Given the description of an element on the screen output the (x, y) to click on. 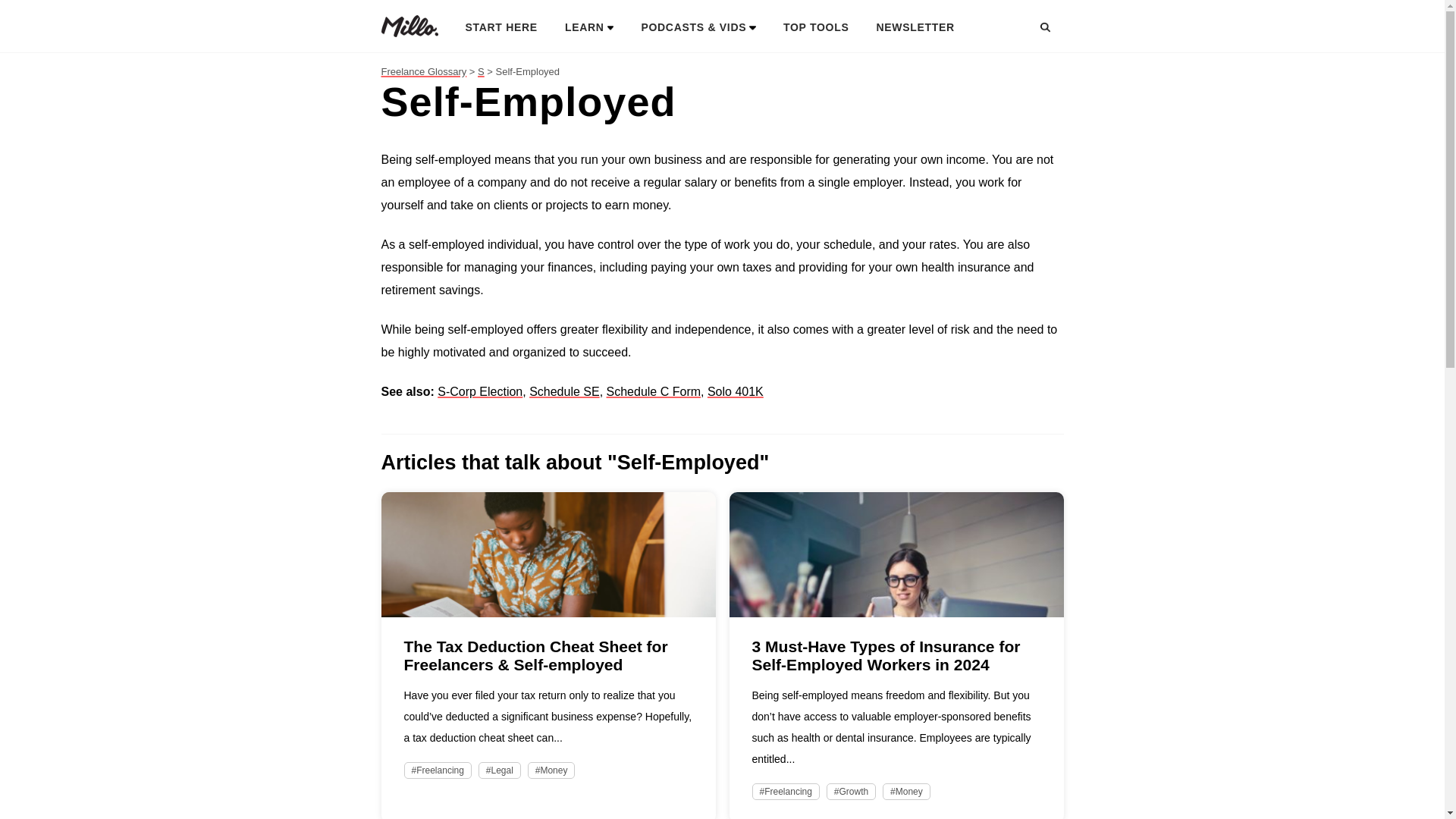
TOP TOOLS (815, 26)
Legal (500, 770)
Millo (409, 25)
Money (906, 791)
NEWSLETTER (914, 26)
Freelancing (436, 770)
Freelance Glossary (422, 71)
Solo 401K (734, 391)
Schedule SE (564, 391)
